Given the description of an element on the screen output the (x, y) to click on. 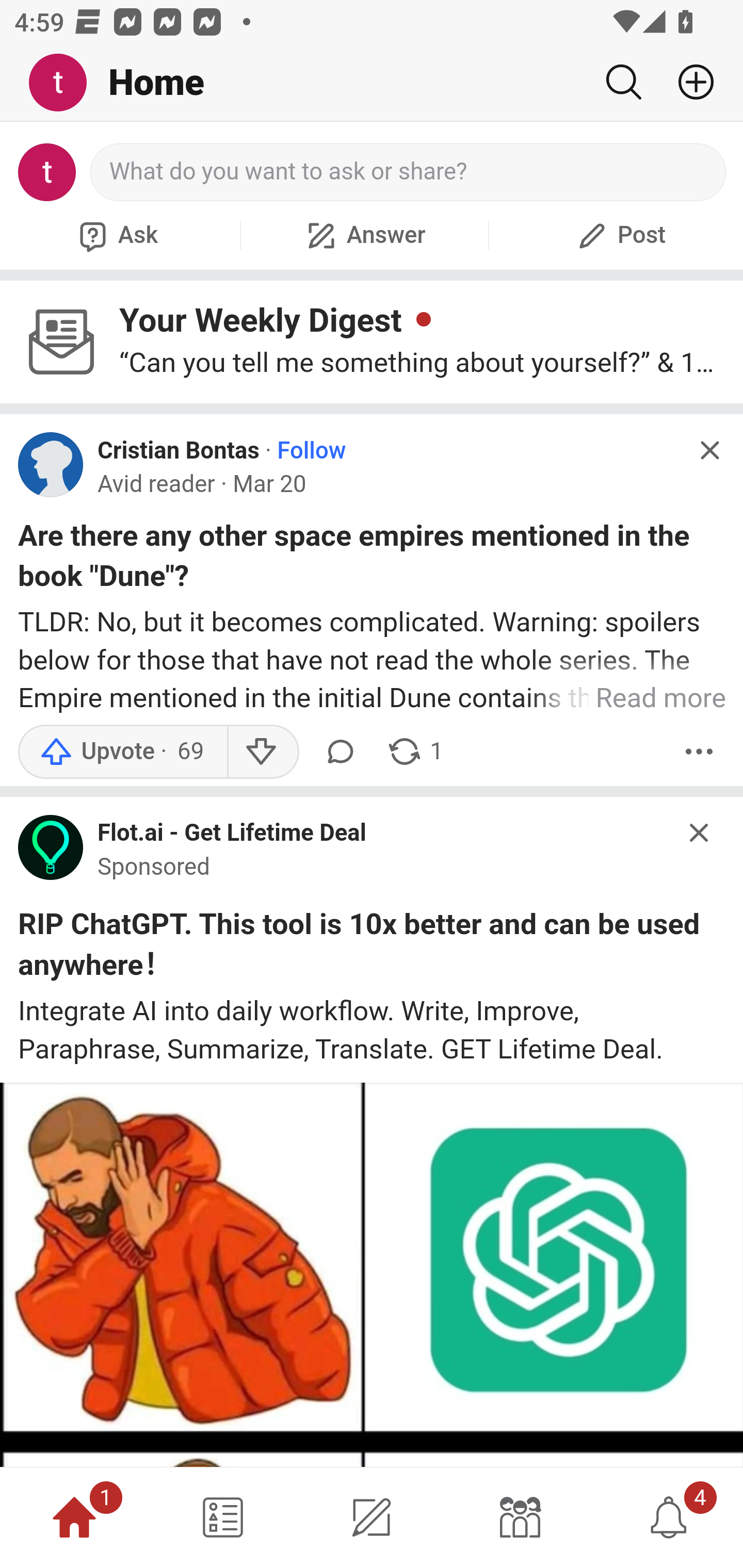
Me Home Search Add (371, 82)
Me (64, 83)
Search (623, 82)
Add (688, 82)
4 (668, 1517)
